Given the description of an element on the screen output the (x, y) to click on. 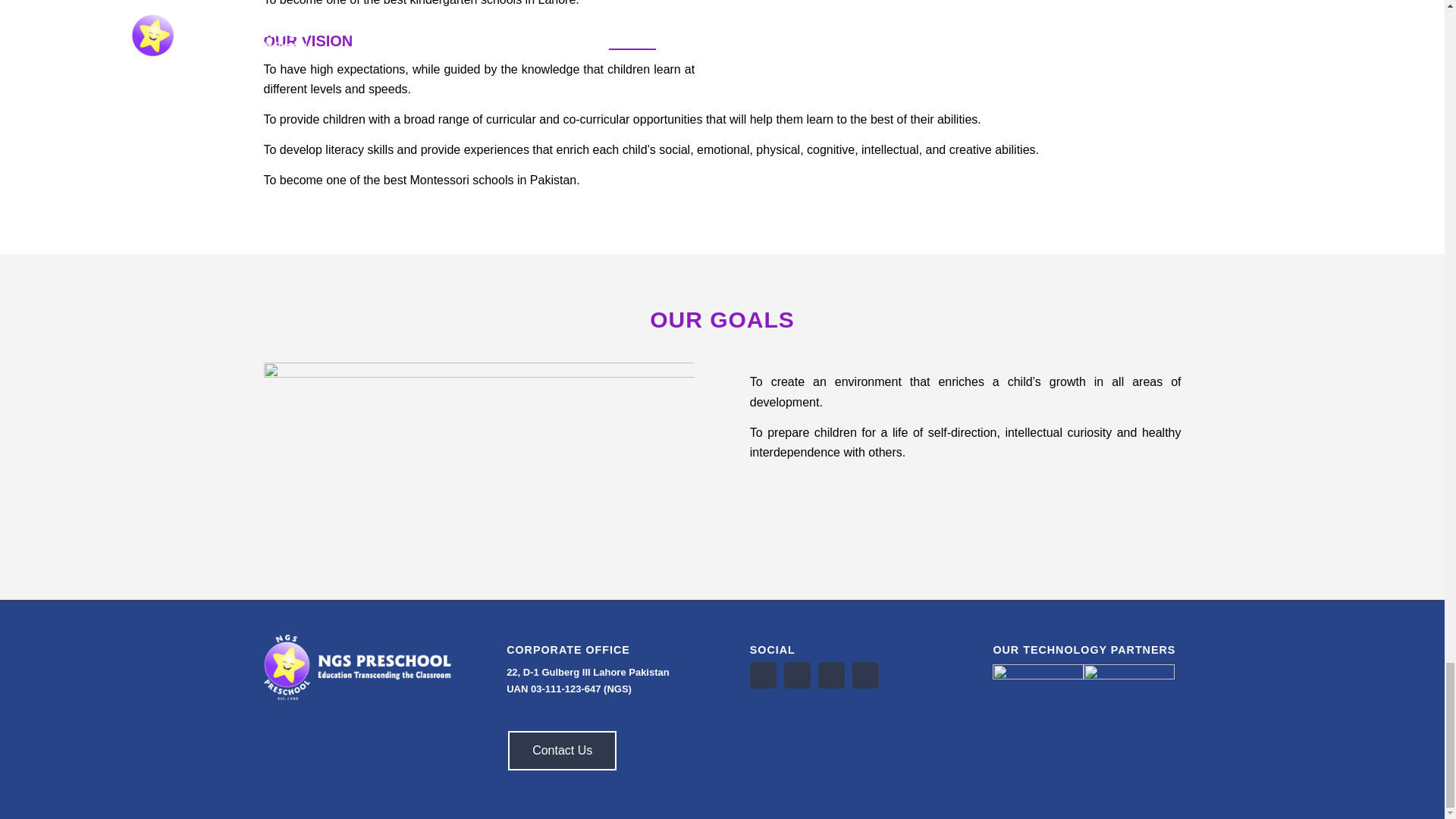
Contact Us (561, 750)
Our Goals-min (479, 454)
philosophy-2-1 (964, 7)
